Given the description of an element on the screen output the (x, y) to click on. 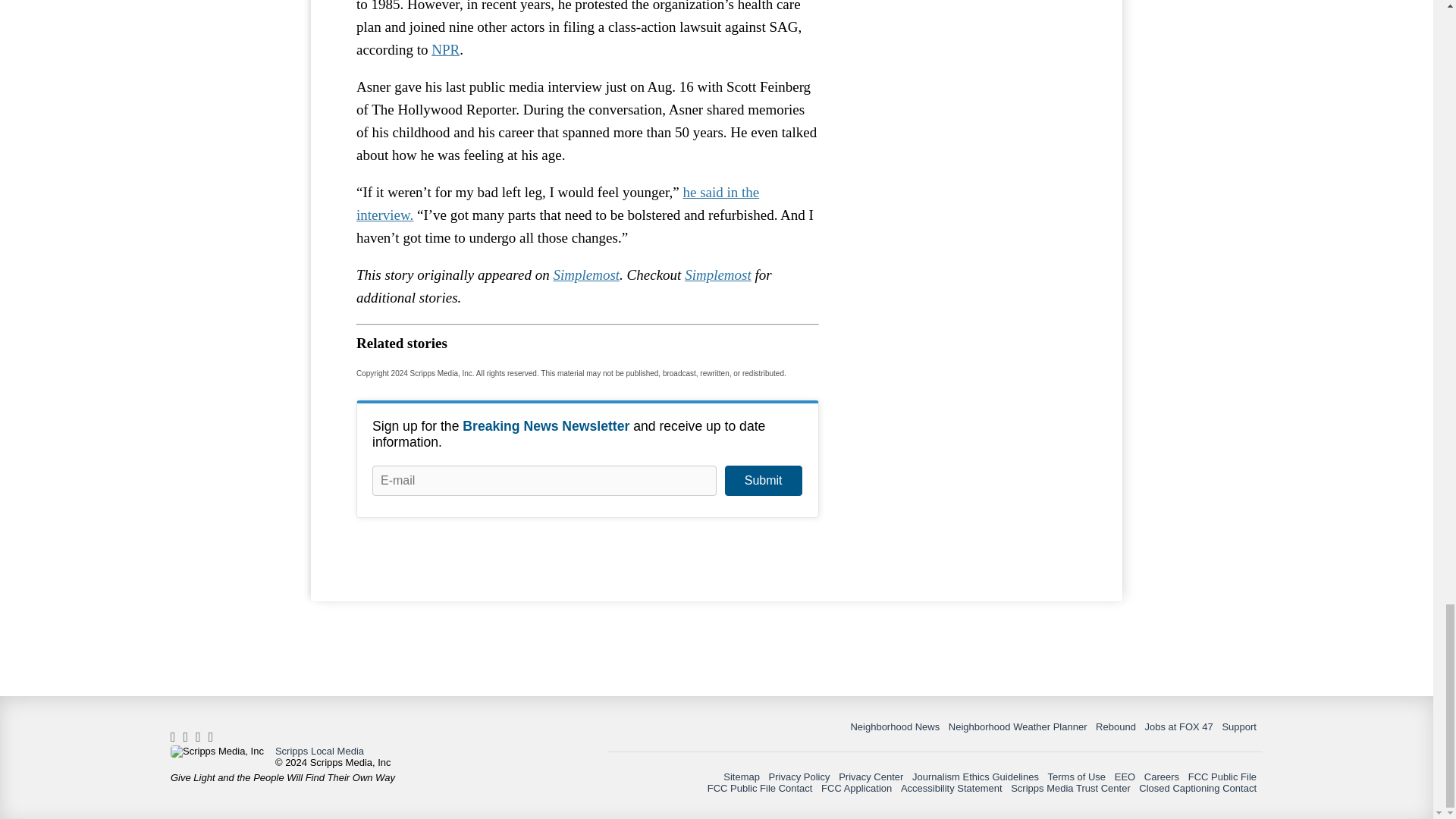
Submit (763, 481)
